Given the description of an element on the screen output the (x, y) to click on. 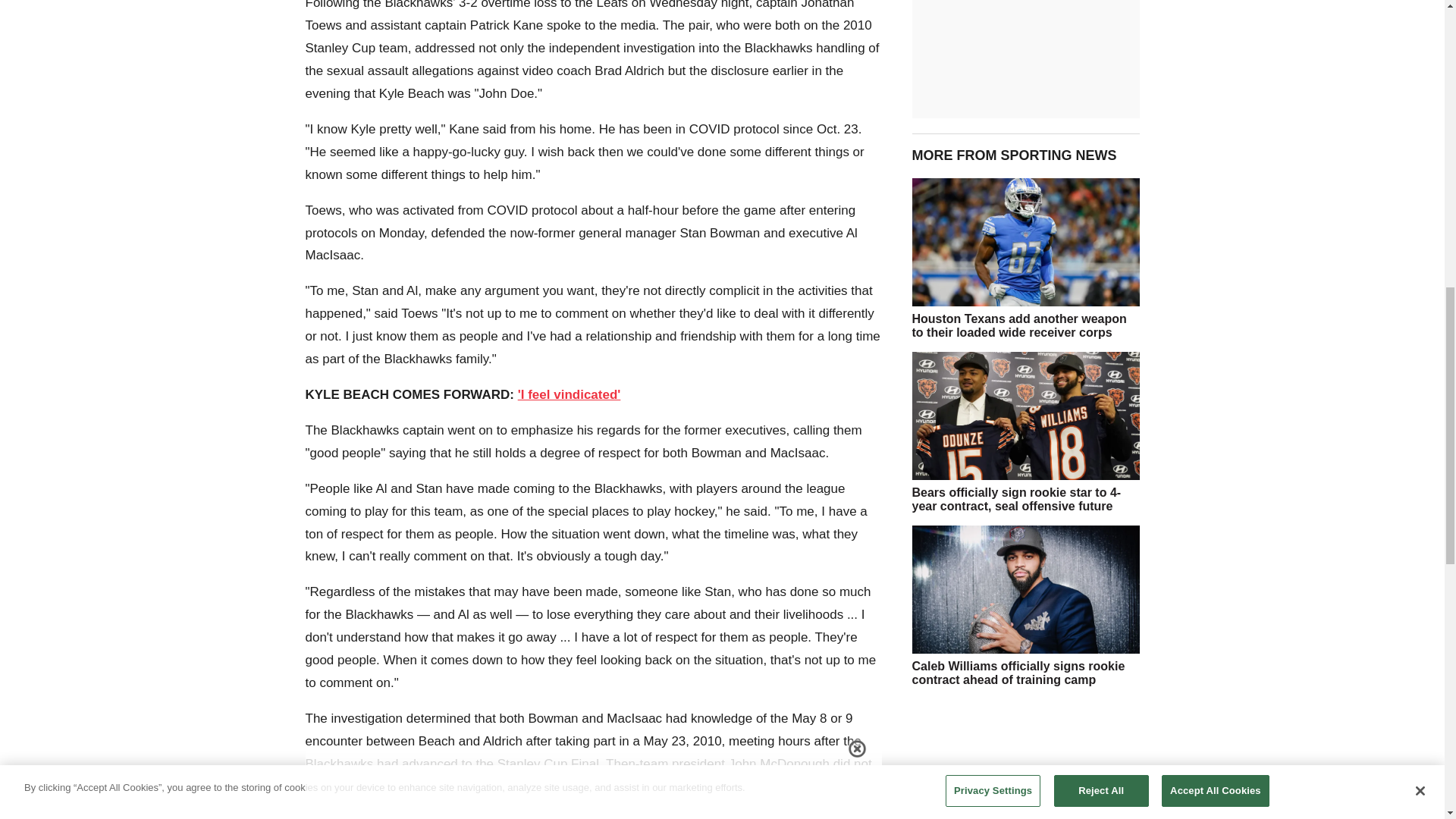
Caleb Williams draft 042624 (1024, 589)
Rome Odunze Caleb Williams Draft Chicago Bears (1024, 415)
3rd party ad content (1024, 759)
